Given the description of an element on the screen output the (x, y) to click on. 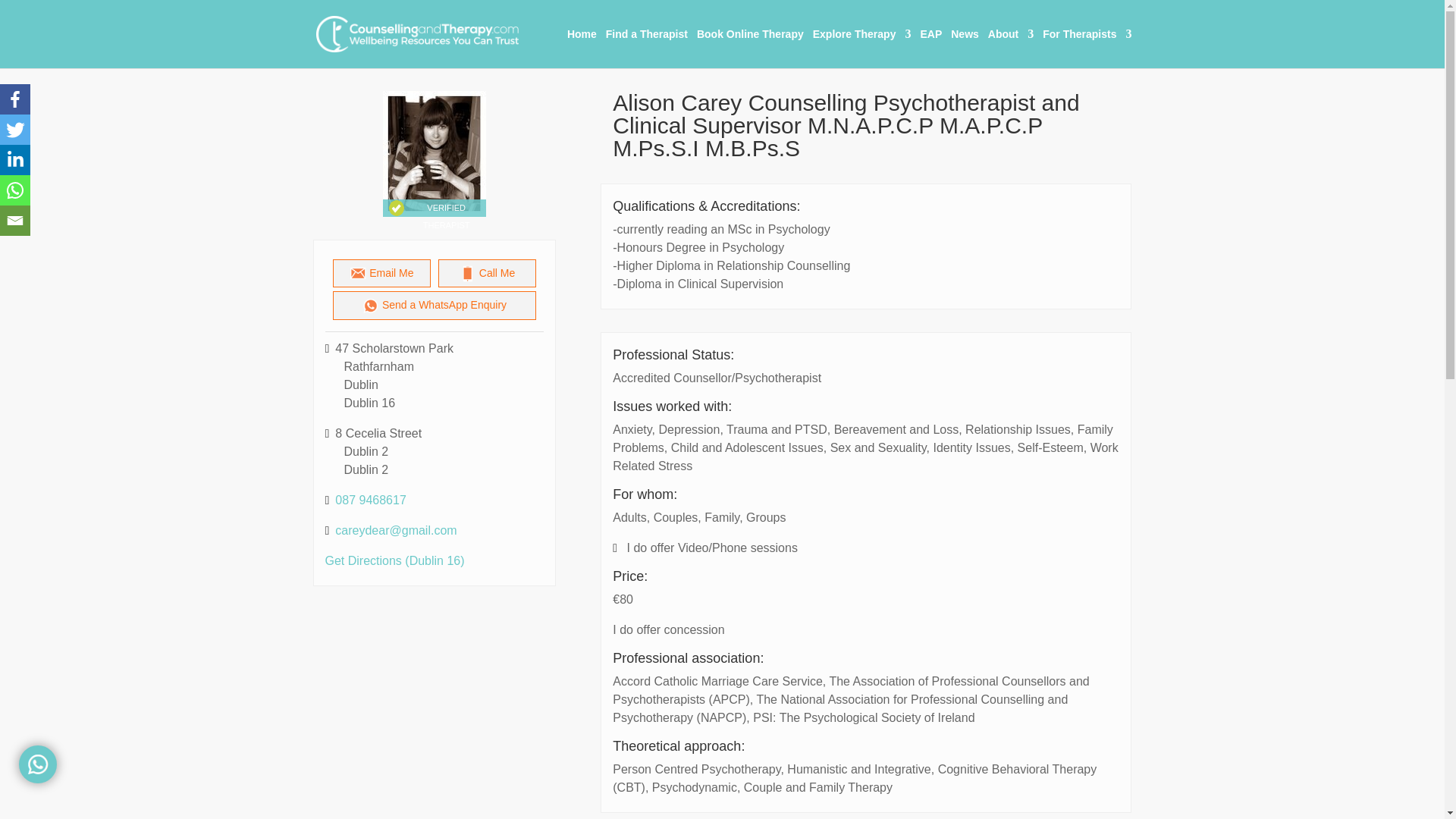
Book Online Therapy (750, 47)
Find a Therapist (646, 47)
Home (581, 47)
open map in new window (394, 560)
Email (15, 220)
Linkedin (15, 159)
Whatsapp (15, 190)
EAP (931, 47)
Twitter (15, 129)
Explore Therapy (861, 47)
News (964, 47)
Facebook (15, 99)
